Given the description of an element on the screen output the (x, y) to click on. 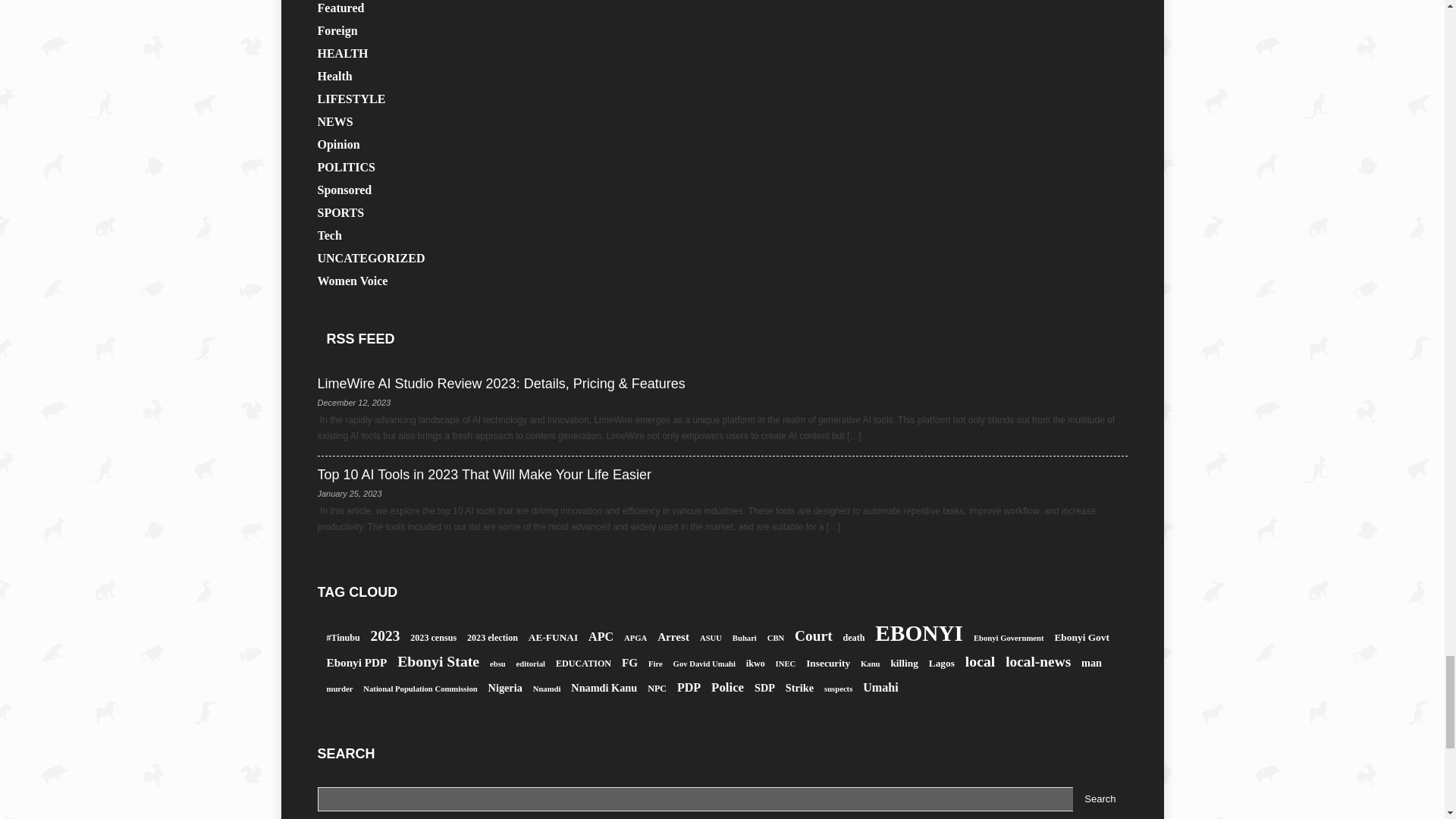
Search (1099, 799)
